Given the description of an element on the screen output the (x, y) to click on. 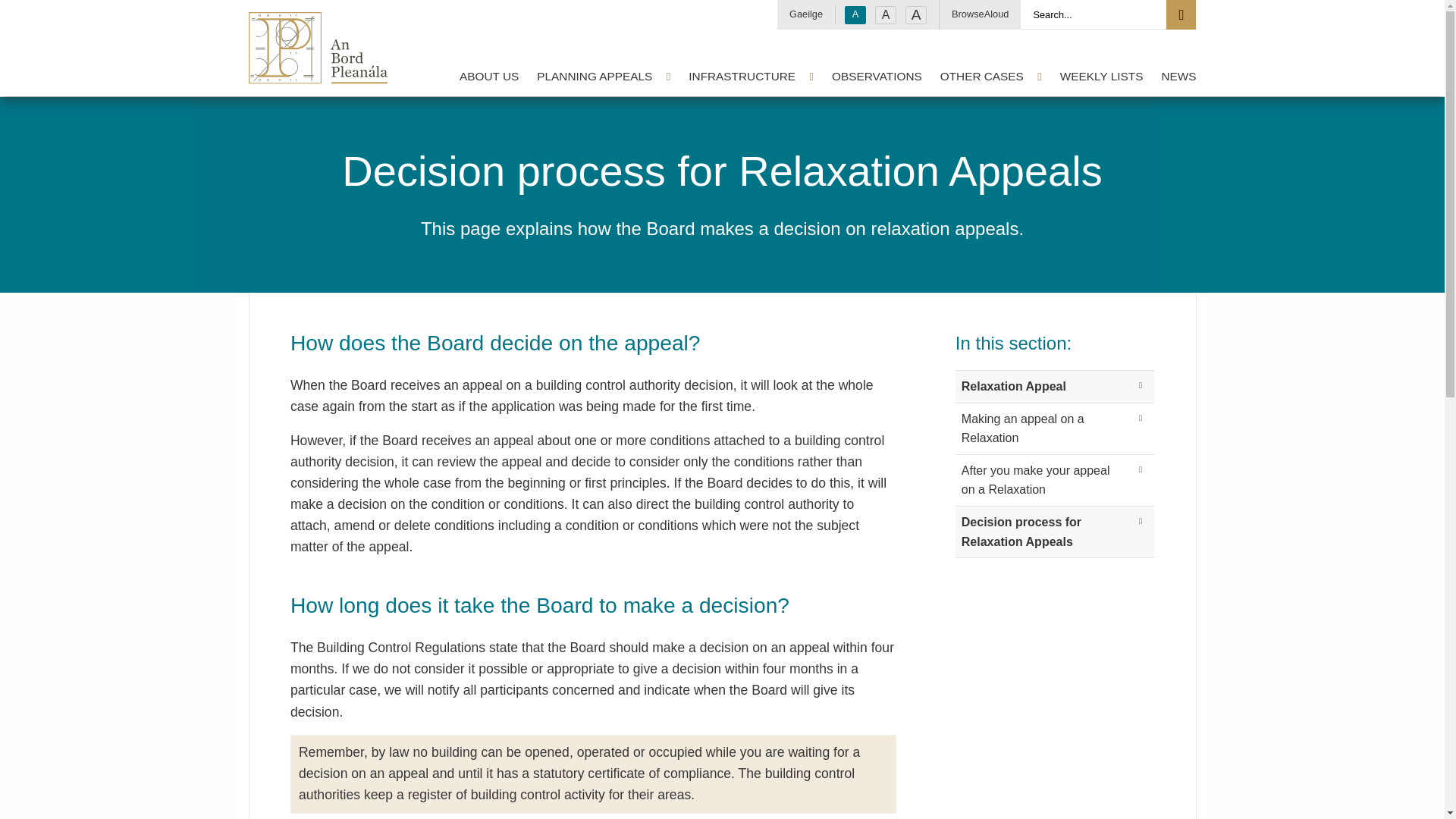
A (855, 14)
WEEKLY LISTS (1098, 75)
OTHER CASES (988, 75)
BrowseAloud (980, 14)
A (915, 14)
PLANNING APPEALS (600, 75)
Search site (1180, 14)
Gaeilge (805, 14)
INFRASTRUCTURE (747, 75)
NEWS (1174, 75)
A (885, 14)
OBSERVATIONS (873, 75)
ABOUT US (485, 75)
